Given the description of an element on the screen output the (x, y) to click on. 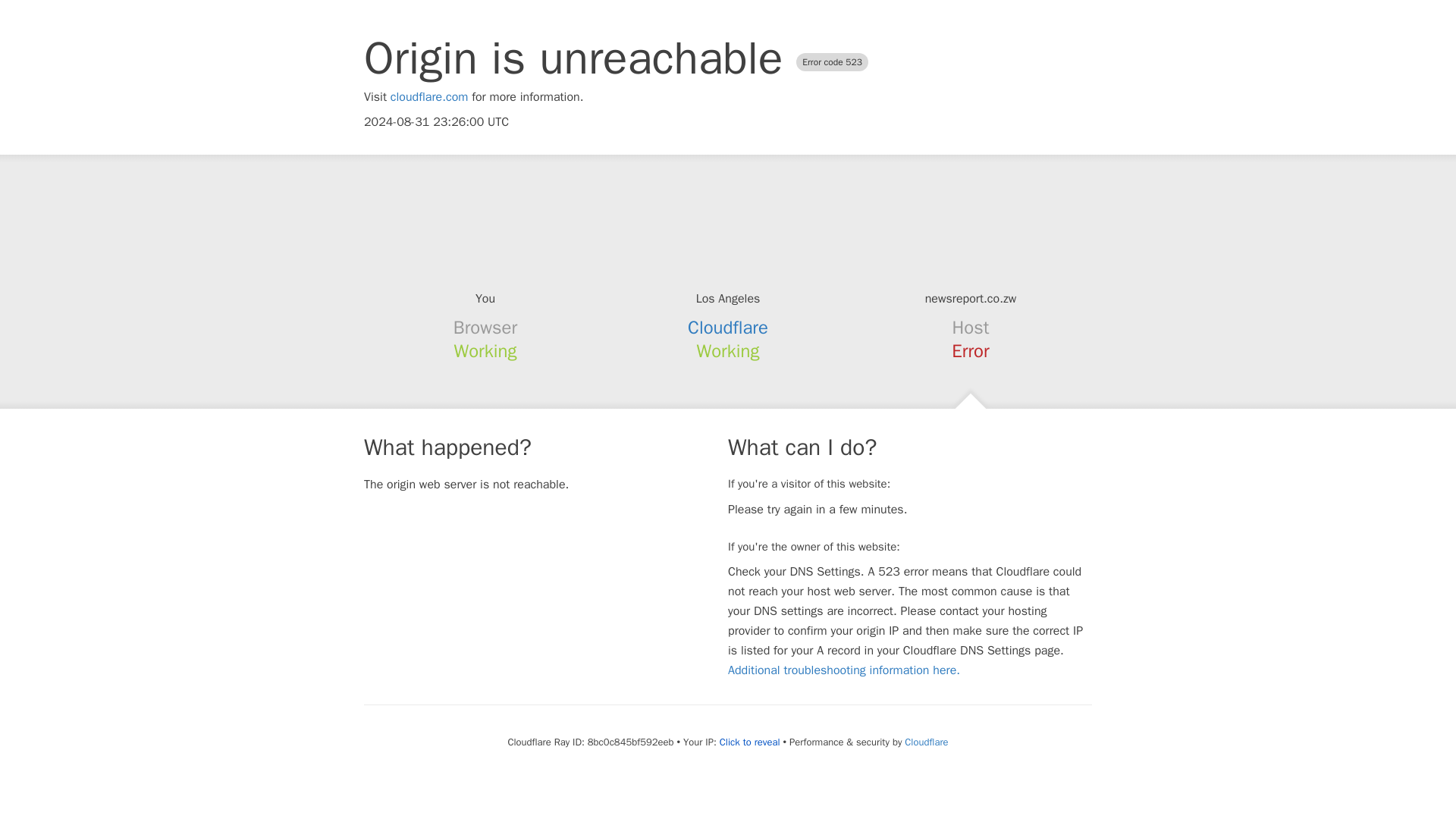
Click to reveal (749, 742)
cloudflare.com (429, 96)
Cloudflare (925, 741)
Additional troubleshooting information here. (843, 670)
Cloudflare (727, 327)
